Given the description of an element on the screen output the (x, y) to click on. 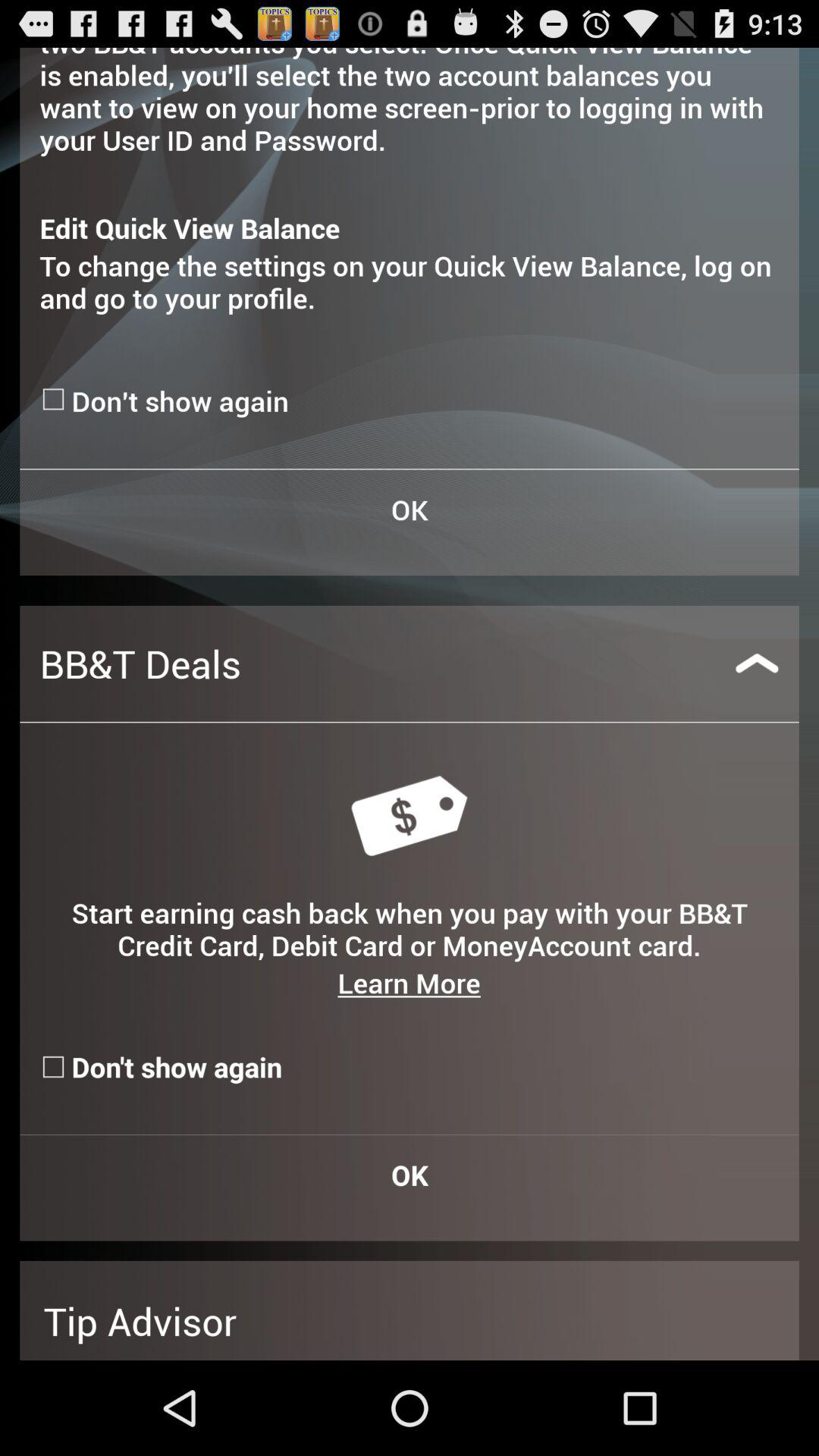
open item next to don t show item (55, 398)
